Given the description of an element on the screen output the (x, y) to click on. 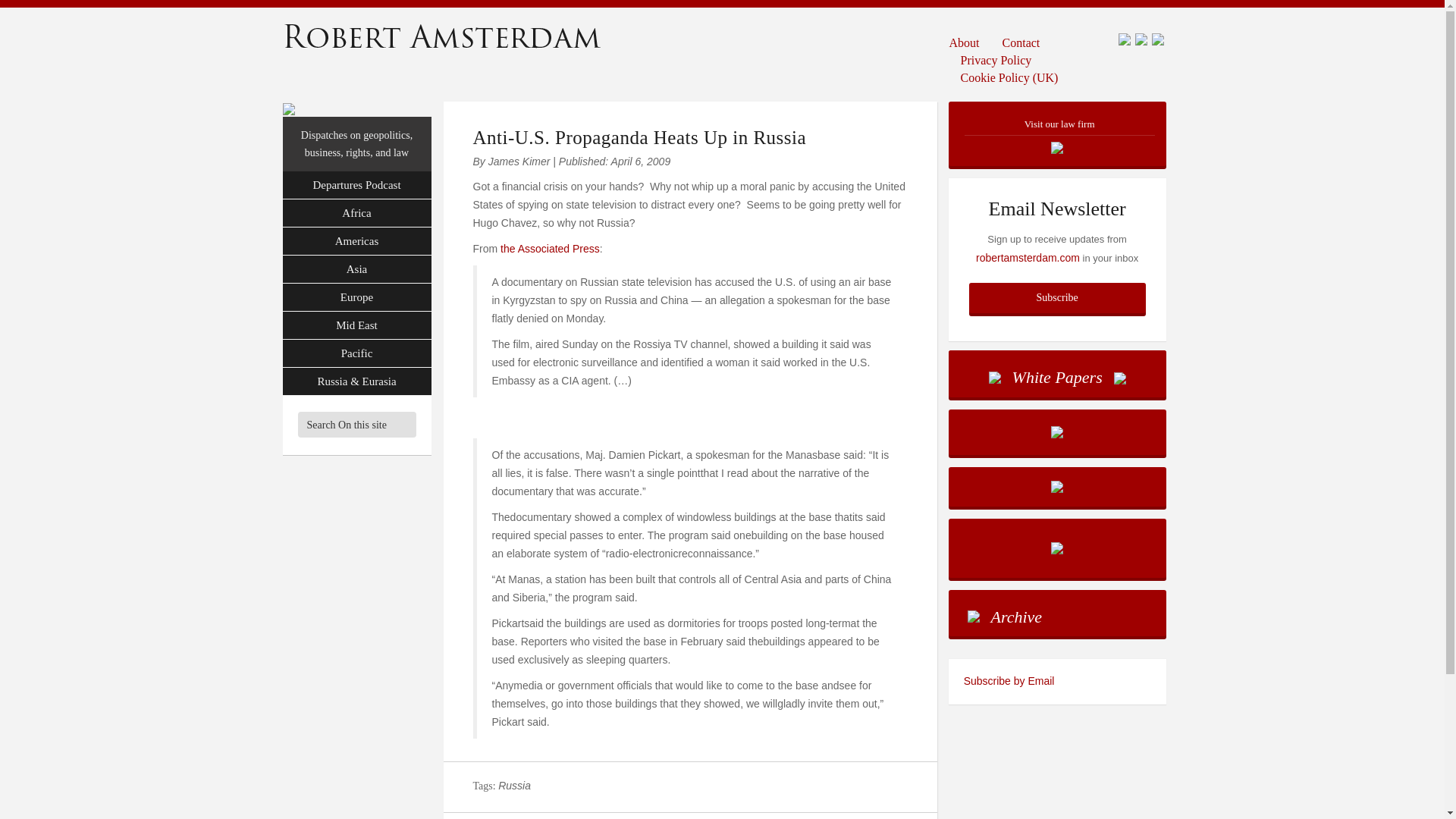
Mid East (356, 325)
Subscribe to the Robert Amsterdam feed by email (1057, 681)
Archive (1057, 612)
Contact (1021, 42)
Departures Podcast (356, 185)
Europe (356, 297)
White Papers (1057, 373)
Privacy Policy (996, 59)
Africa (356, 213)
robertamsterdam.com (1027, 257)
